Given the description of an element on the screen output the (x, y) to click on. 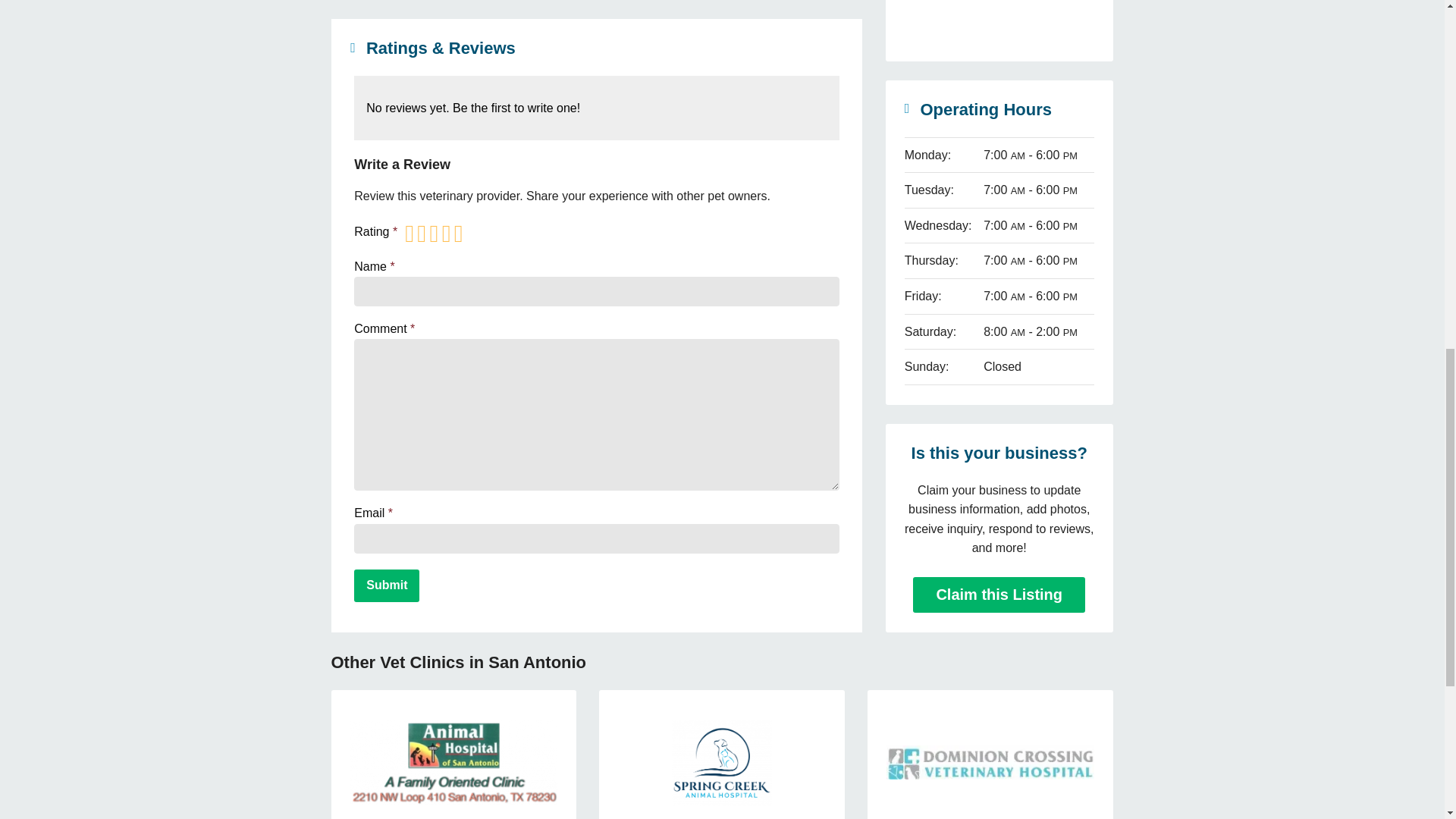
Submit (386, 585)
Claim this Listing (998, 292)
Submit (386, 585)
